Given the description of an element on the screen output the (x, y) to click on. 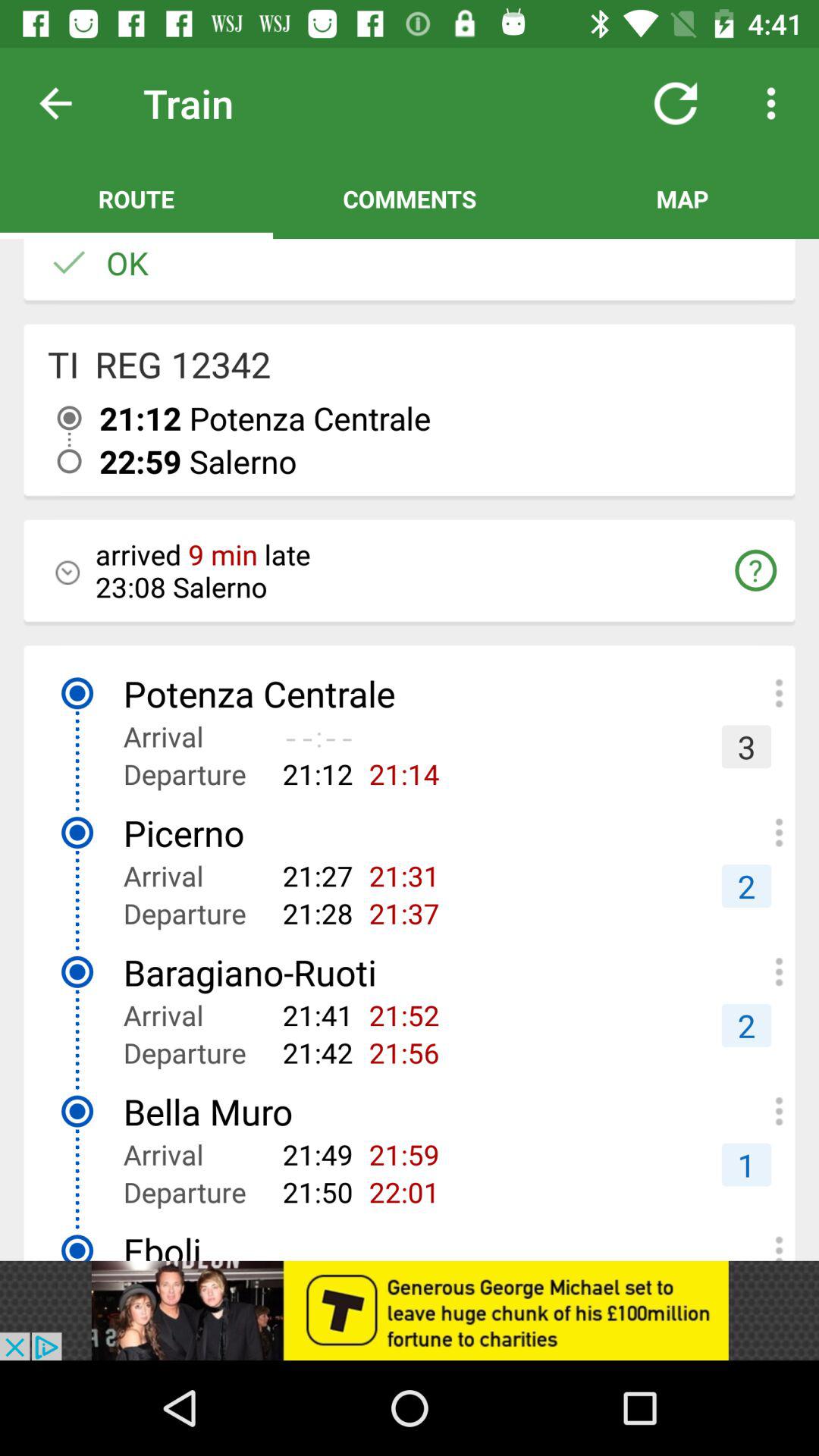
backward (67, 103)
